Given the description of an element on the screen output the (x, y) to click on. 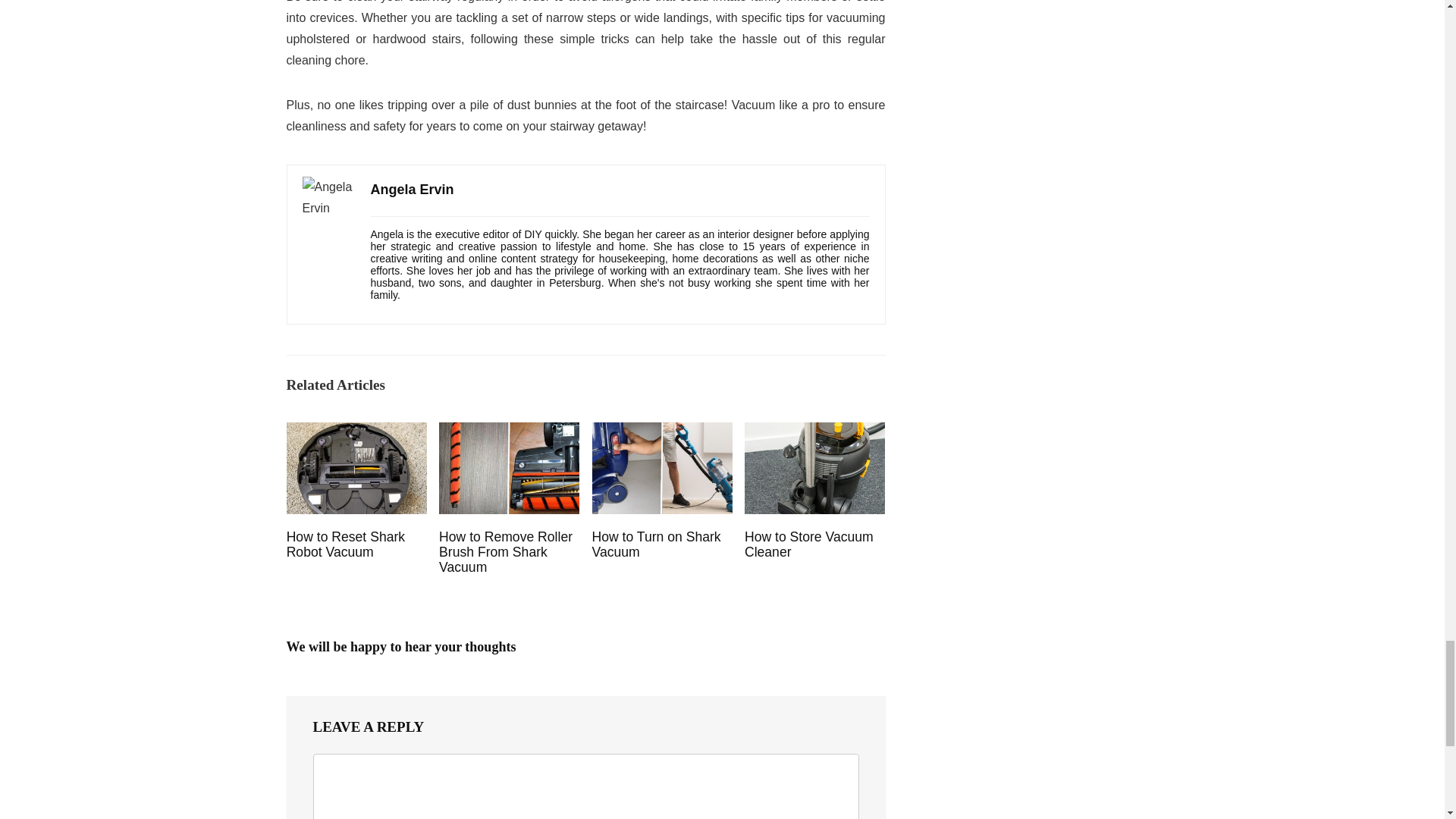
How to Remove Roller Brush From Shark Vacuum (505, 551)
Angela Ervin (410, 189)
How to Turn on Shark Vacuum (655, 544)
How to Store Vacuum Cleaner (808, 544)
How to Reset Shark Robot Vacuum (345, 544)
